Given the description of an element on the screen output the (x, y) to click on. 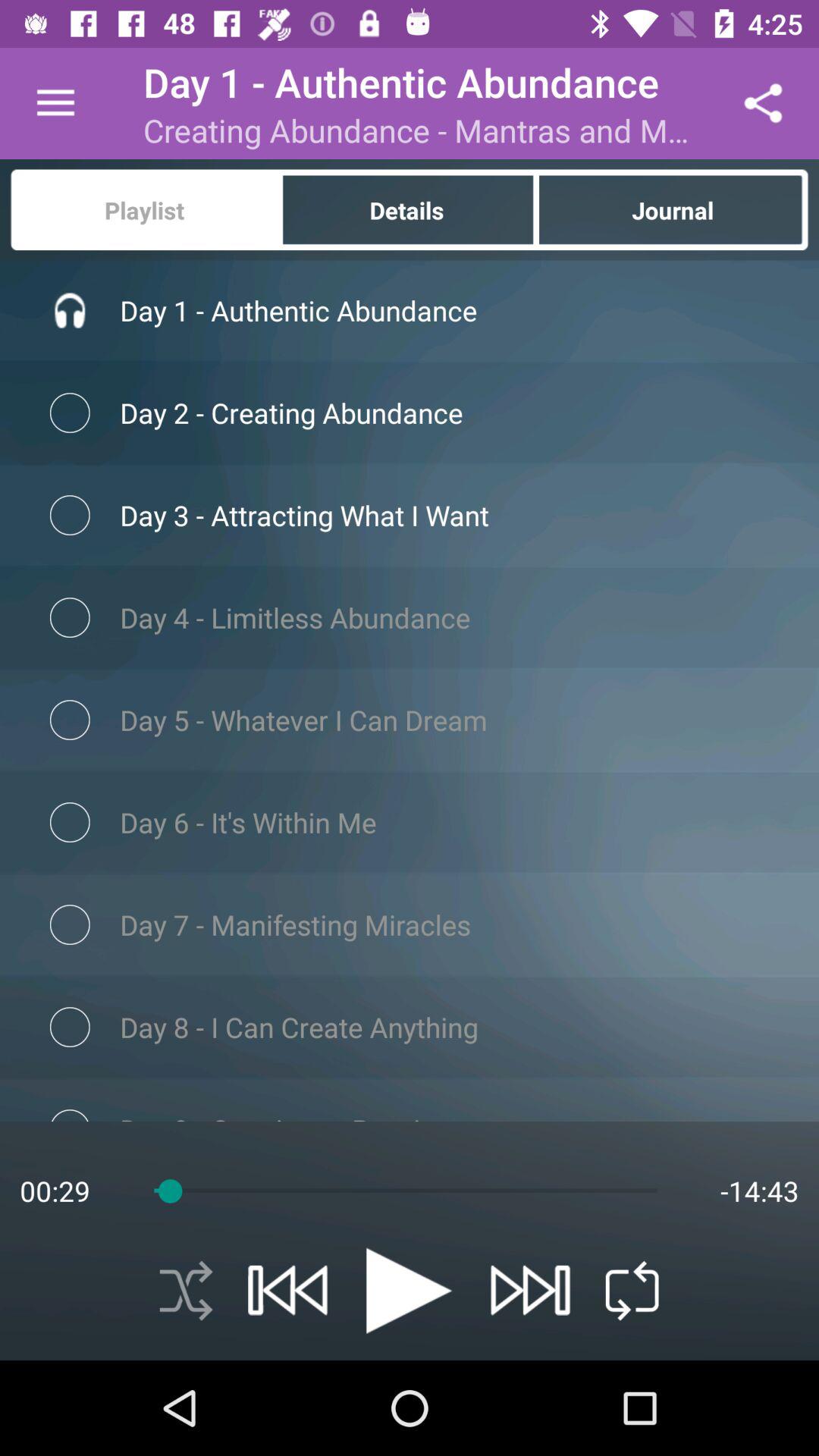
turn on the icon above the playlist (55, 103)
